Given the description of an element on the screen output the (x, y) to click on. 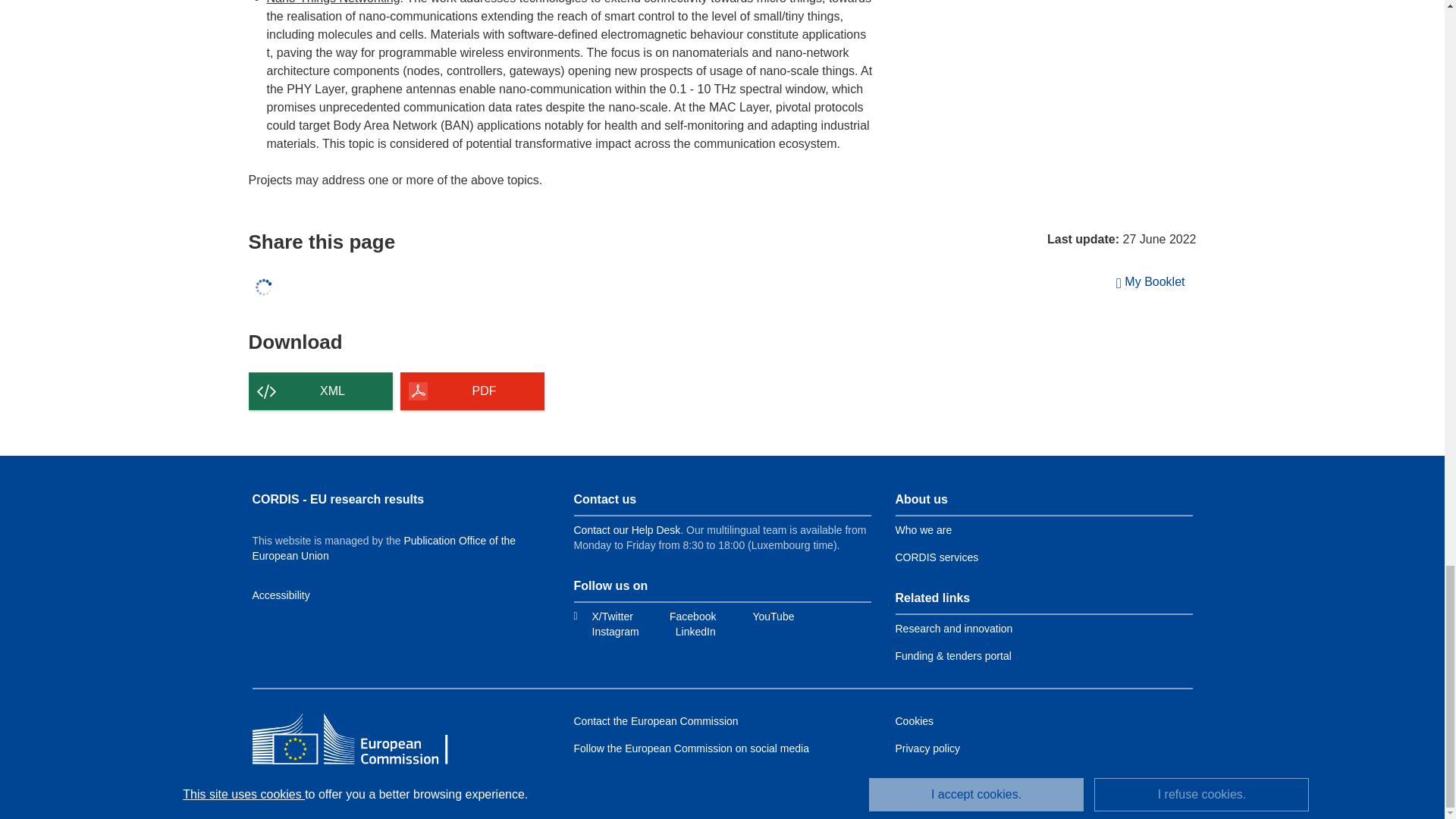
Accessibility (279, 594)
Publication Office of the European Union (383, 547)
XML (320, 391)
European Commission (361, 739)
My Booklet (1150, 281)
Contact our Help Desk (626, 530)
Facebook (683, 616)
PDF (472, 391)
